Given the description of an element on the screen output the (x, y) to click on. 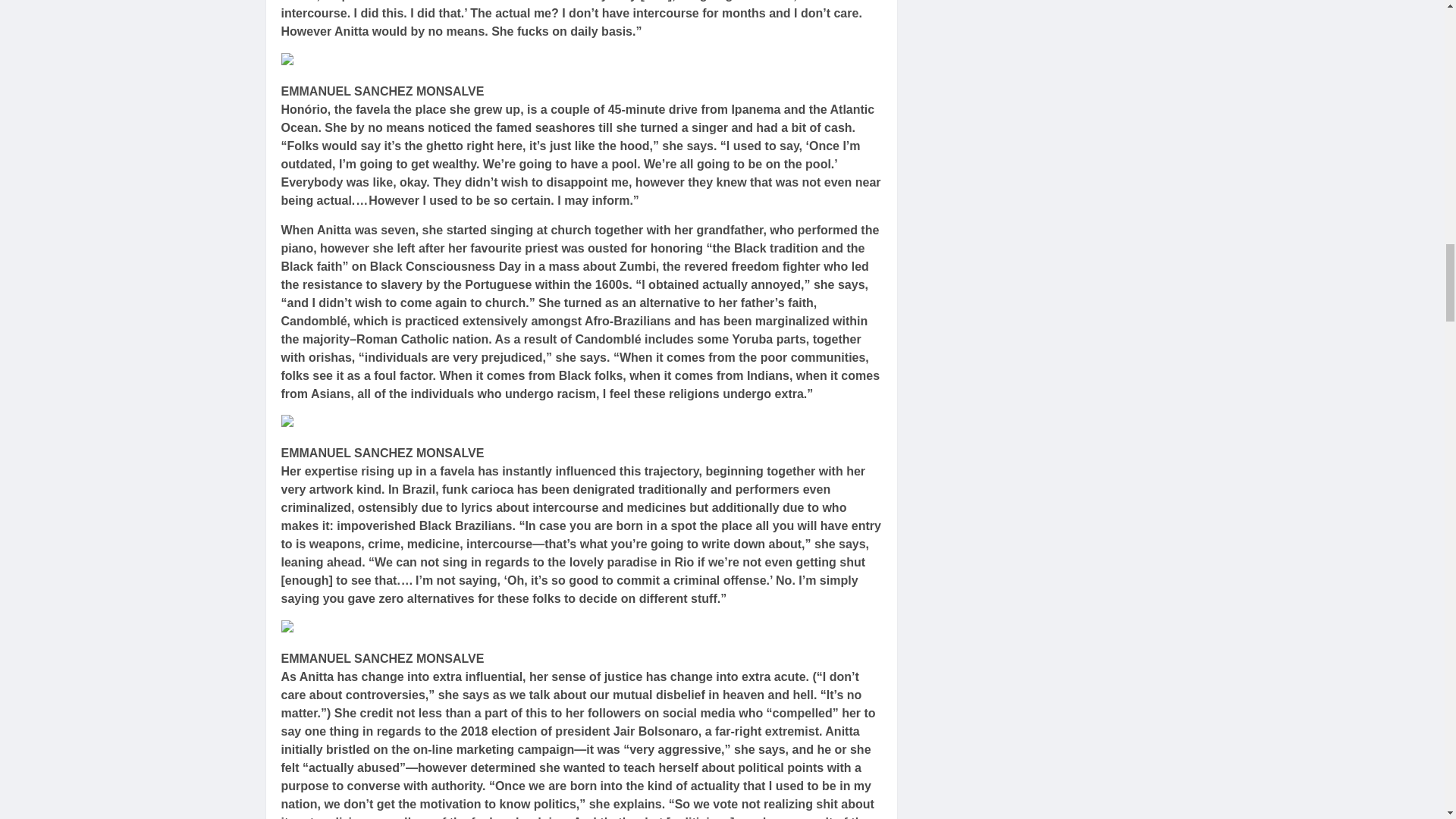
anitta june july 2023 cover (362, 62)
anitta june july 2023 cover (362, 628)
anitta june july 2023 cover (362, 423)
